Given the description of an element on the screen output the (x, y) to click on. 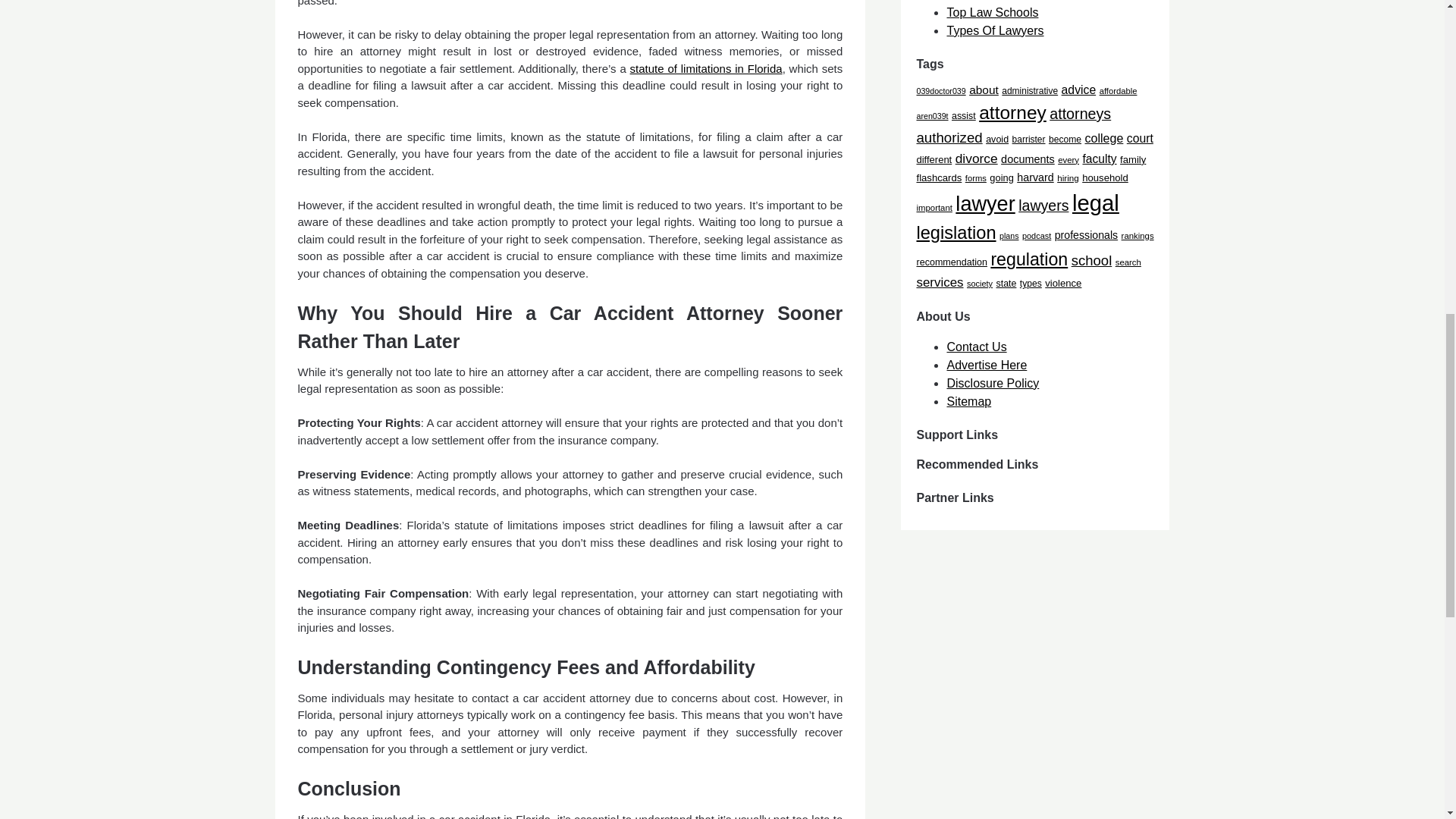
statute of limitations in Florida (706, 68)
